Given the description of an element on the screen output the (x, y) to click on. 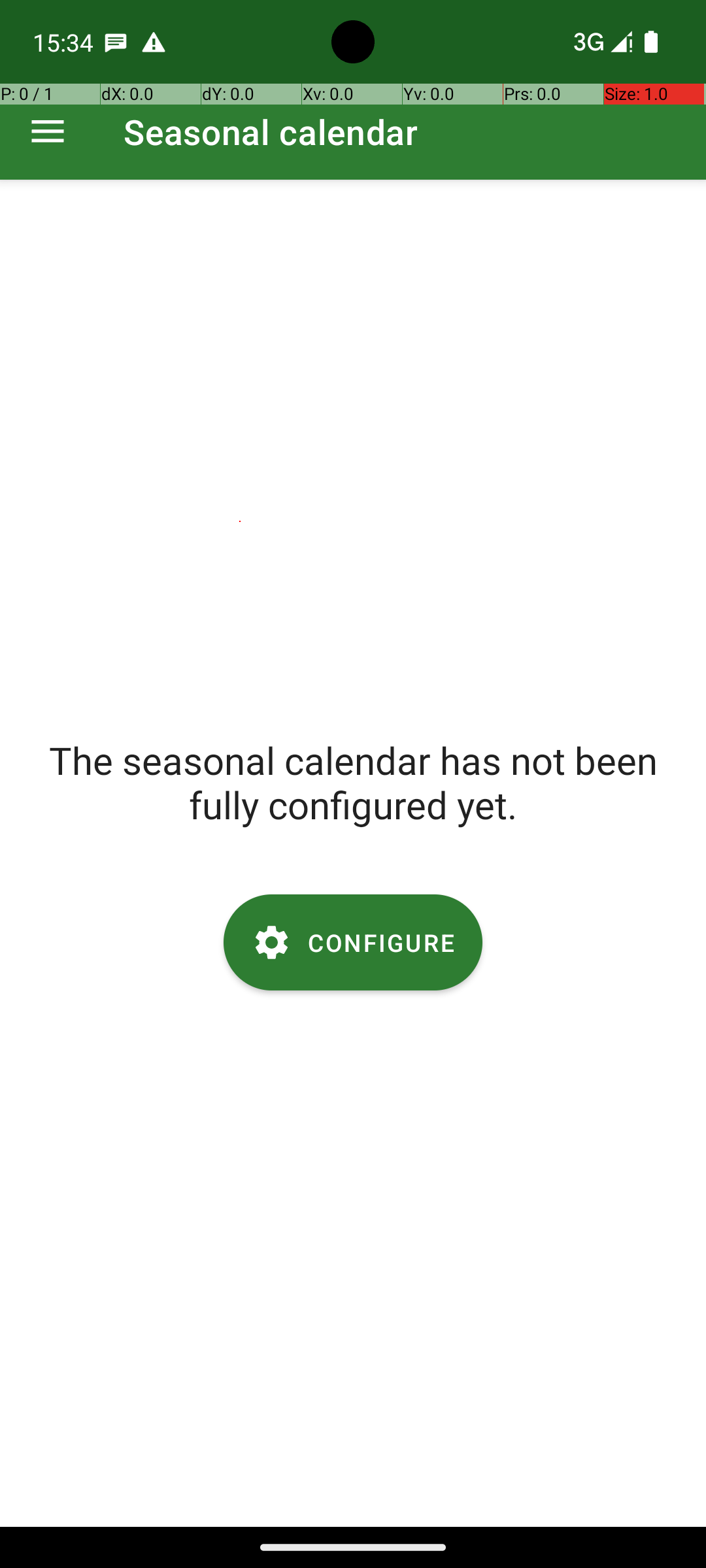
Seasonal calendar Element type: android.widget.TextView (270, 131)
The seasonal calendar has not been fully configured yet. Element type: android.widget.TextView (353, 781)
CONFIGURE Element type: android.widget.Button (352, 942)
